Given the description of an element on the screen output the (x, y) to click on. 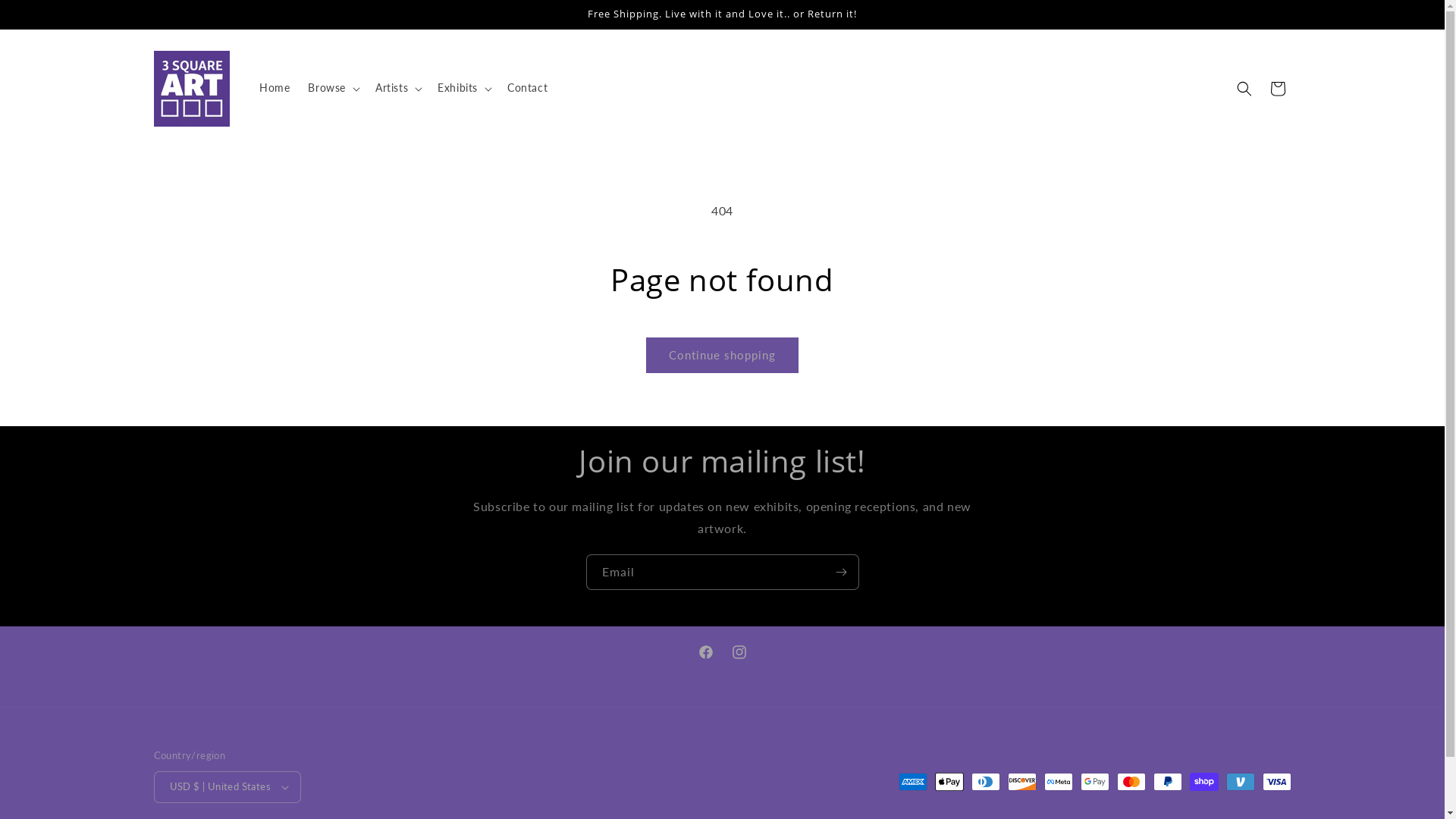
Instagram Element type: text (738, 651)
USD $ | United States Element type: text (226, 787)
Cart Element type: text (1276, 87)
Continue shopping Element type: text (722, 355)
Facebook Element type: text (704, 651)
Home Element type: text (274, 87)
Contact Element type: text (527, 87)
